Given the description of an element on the screen output the (x, y) to click on. 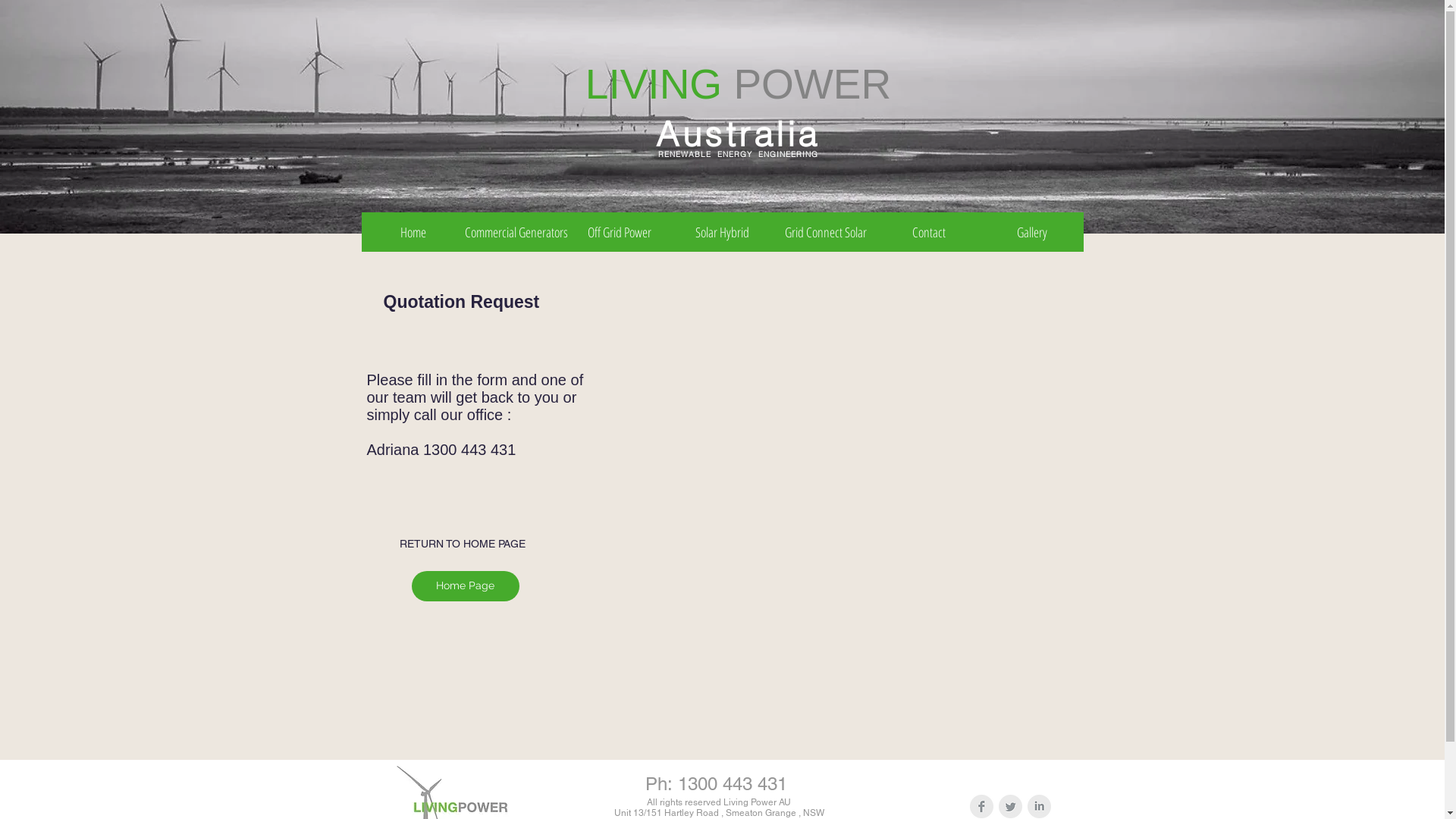
RENEWABLE  ENERGY  ENGINEERING Element type: text (738, 154)
Gallery Element type: text (1030, 231)
Commercial Generators Element type: text (515, 231)
Home Element type: text (412, 231)
Grid Connect Solar Element type: text (824, 231)
Home Page Element type: text (464, 586)
Off Grid Power Element type: text (618, 231)
Contact Element type: text (927, 231)
  Element type: text (727, 83)
Solar Hybrid Element type: text (721, 231)
Australia Element type: text (737, 133)
POWER Element type: text (812, 83)
LIVING Element type: text (653, 83)
